Given the description of an element on the screen output the (x, y) to click on. 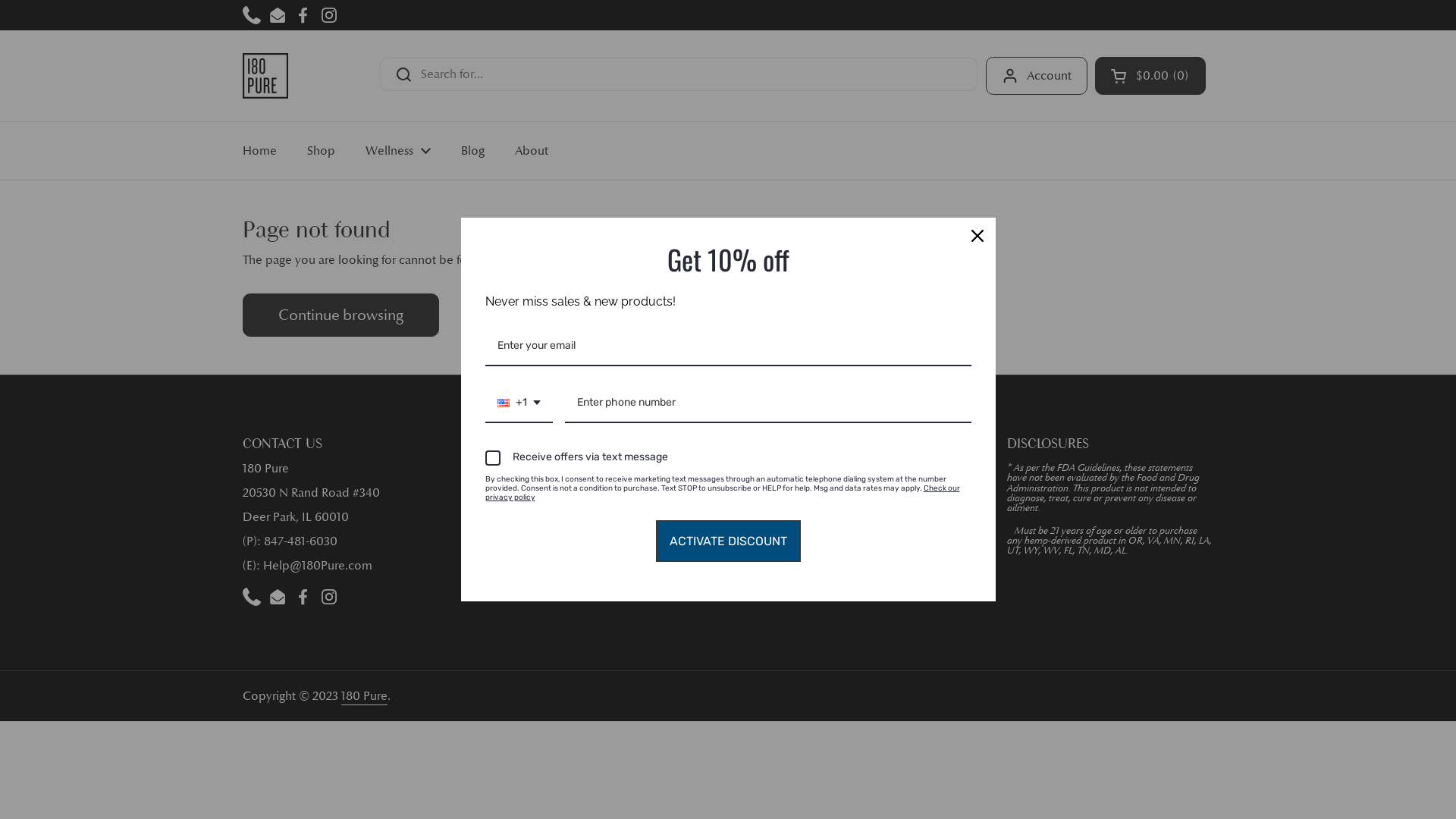
Skip to content Element type: text (0, 0)
Phone Element type: text (251, 15)
180 Pure Element type: hover (265, 75)
Submit Element type: text (939, 490)
Facebook Element type: text (303, 15)
Email Element type: text (277, 596)
Shop Element type: text (320, 150)
Continue browsing Element type: text (340, 314)
Account Element type: text (1036, 75)
Terms of Service Element type: text (540, 500)
Wellness Element type: text (397, 150)
Facebook Element type: text (303, 596)
Phone Element type: text (251, 596)
Instagram Element type: text (329, 15)
Open cart
$0.00
0 Element type: text (1150, 75)
Home Element type: text (259, 150)
Blog Element type: text (472, 150)
Privacy Policy Element type: text (533, 469)
Email Element type: text (277, 15)
ACTIVATE DISCOUNT Element type: text (727, 540)
About Element type: text (531, 150)
Refund Policy Element type: text (534, 484)
Lab Results Element type: text (526, 516)
Instagram Element type: text (329, 596)
180 Pure Element type: text (364, 696)
